Given the description of an element on the screen output the (x, y) to click on. 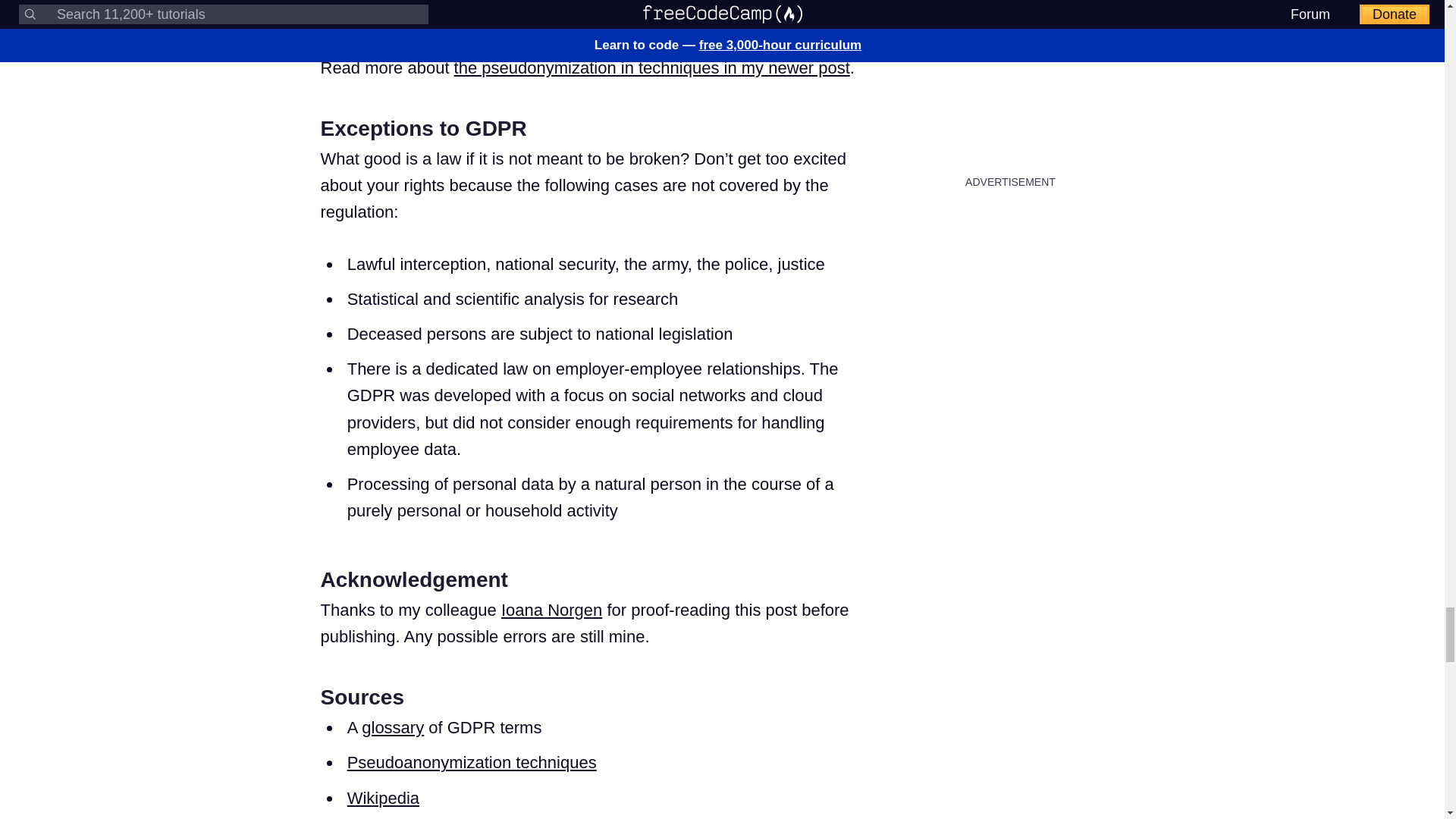
Ioana Norgen (551, 609)
glossary (392, 727)
Wikipedia (383, 797)
the pseudonymization in techniques in my newer post (652, 67)
Pseudoanonymization techniques (471, 762)
